Given the description of an element on the screen output the (x, y) to click on. 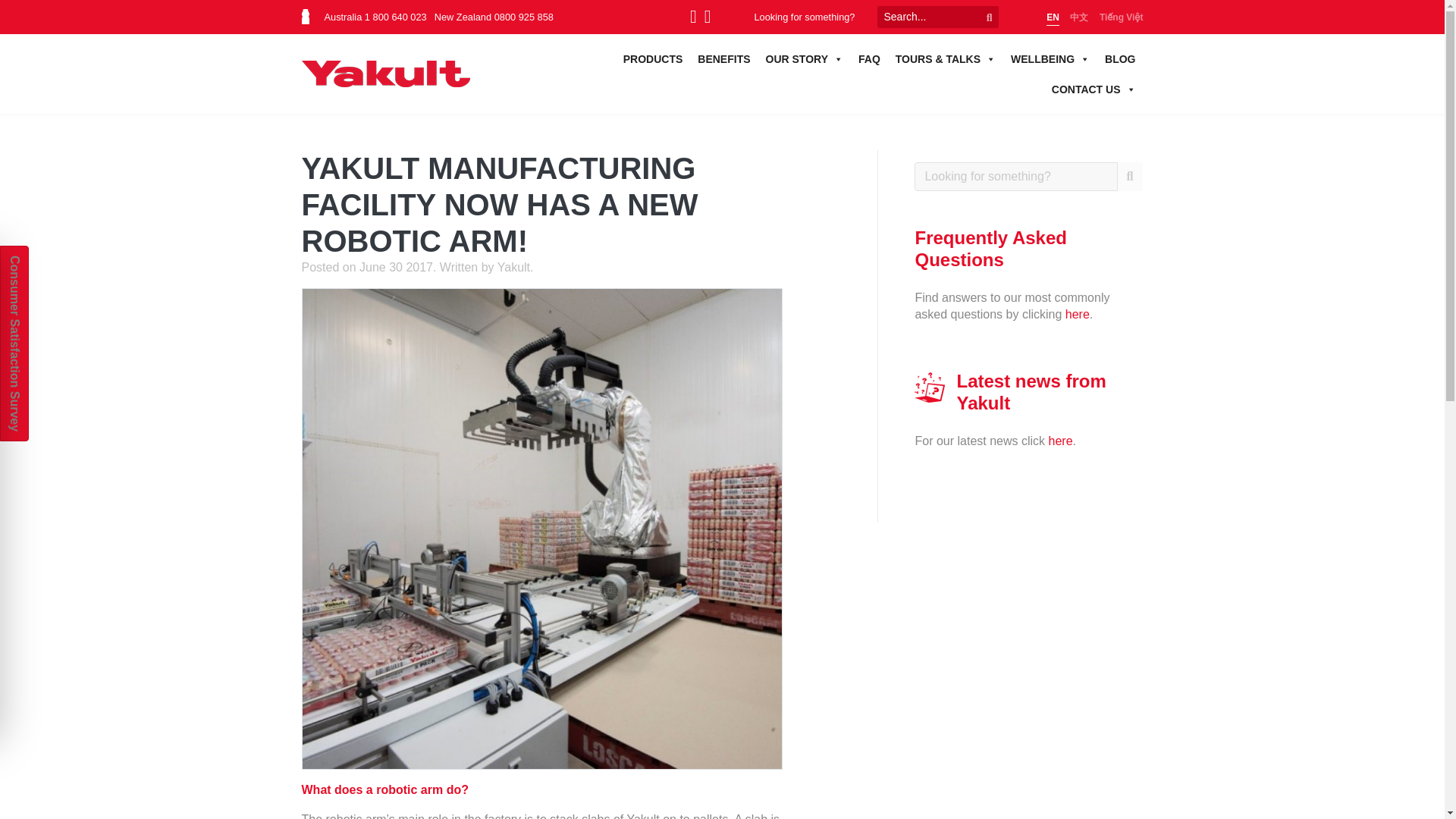
BENEFITS (723, 59)
Australia 1 800 640 023 (375, 16)
PRODUCTS (652, 59)
WELLBEING (1050, 59)
FAQ (869, 59)
OUR STORY (804, 59)
CONTACT US (1092, 89)
Yakult Australia (385, 72)
EN (1052, 18)
New Zealand 0800 925 858 (493, 16)
BLOG (1119, 59)
